Given the description of an element on the screen output the (x, y) to click on. 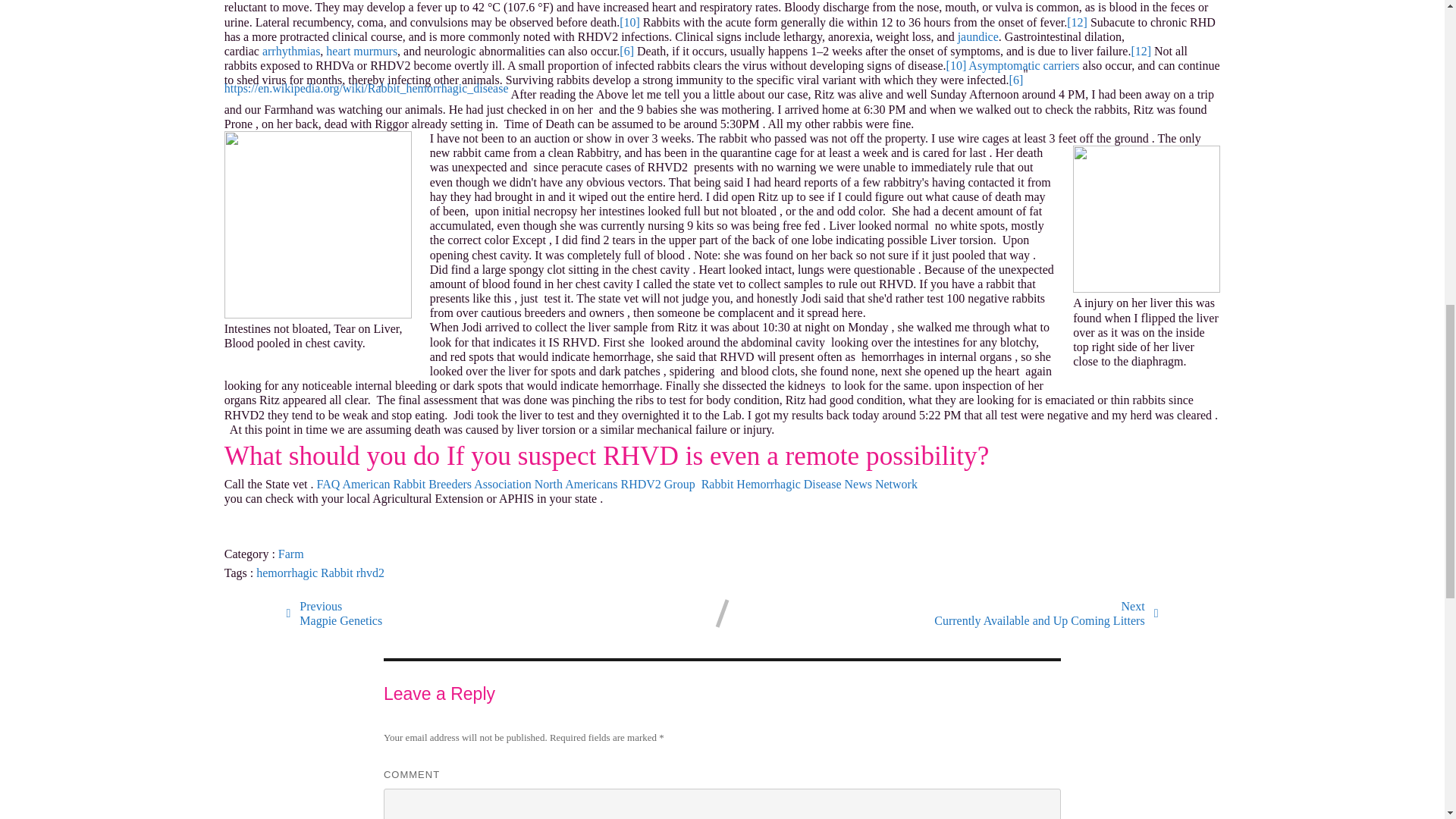
Heart murmur (361, 51)
Rabbit Hemorrhagic Disease News Network (809, 483)
Rabbit (1045, 613)
North Americans RHDV2 Group  (338, 571)
jaundice (616, 483)
Arrhythmia (334, 613)
Asymptomatic carriers (978, 36)
Farm (291, 51)
